Given the description of an element on the screen output the (x, y) to click on. 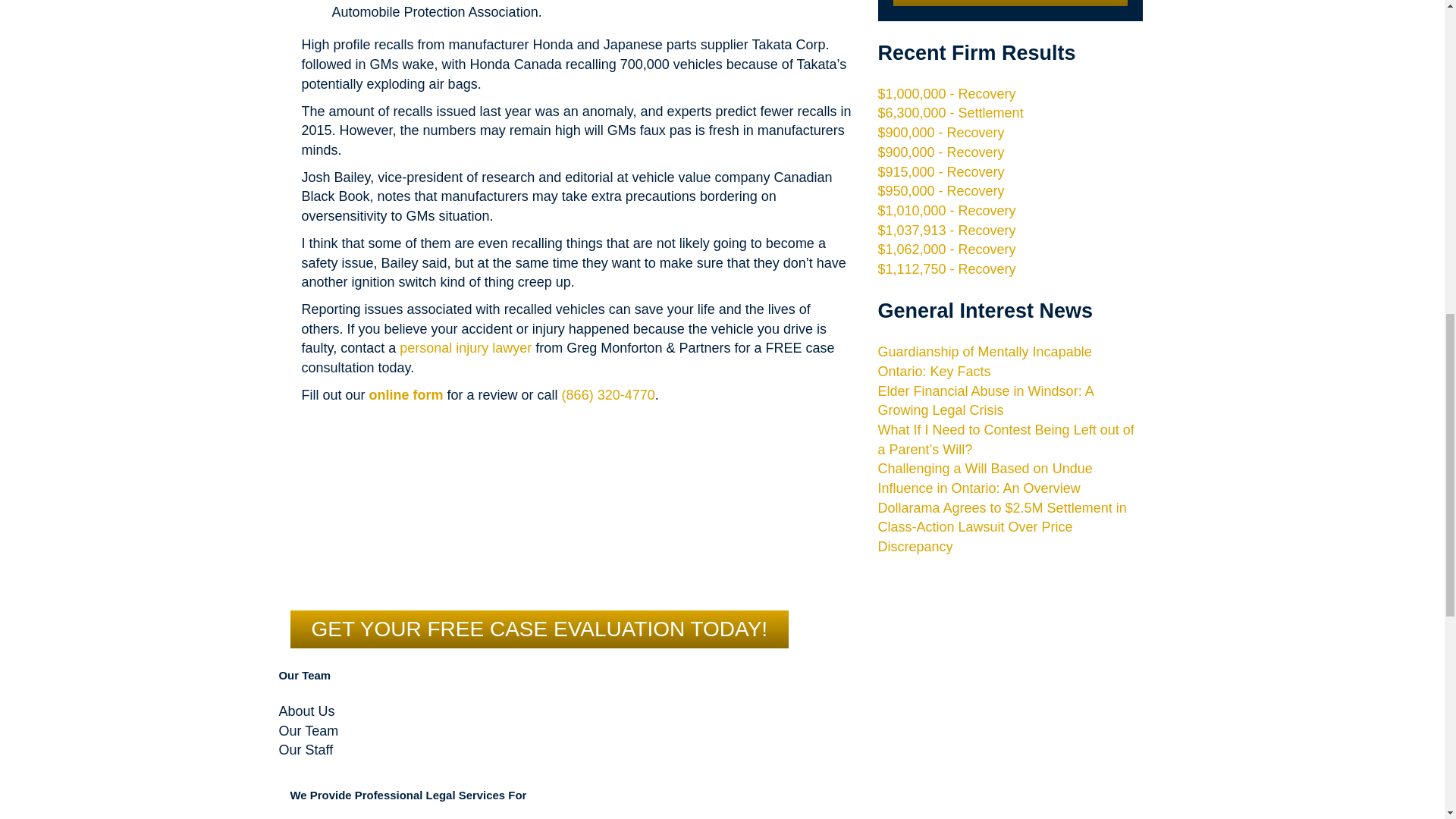
personal injury lawyer (464, 347)
Get Help Now (1010, 2)
